Given the description of an element on the screen output the (x, y) to click on. 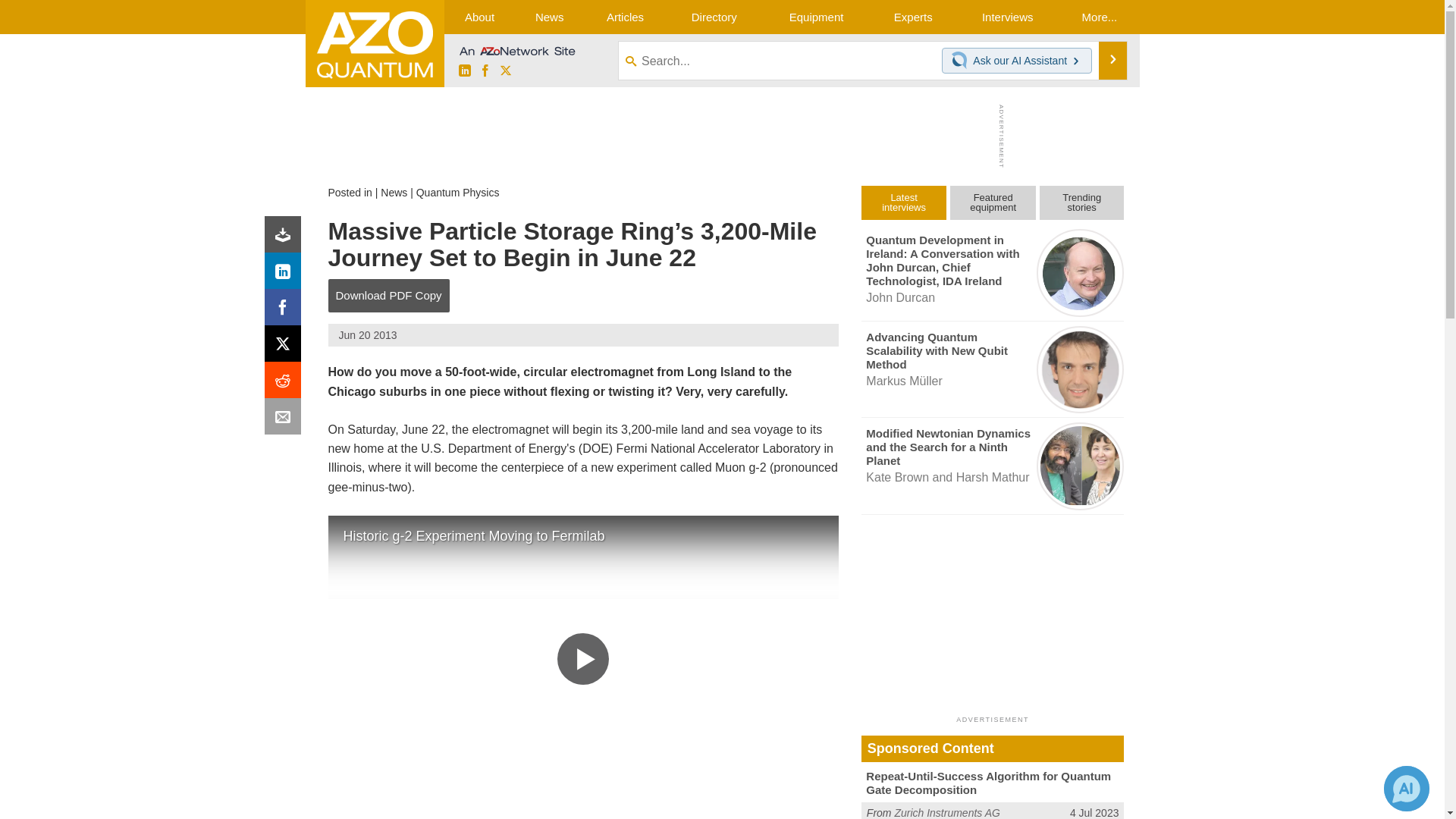
News (549, 17)
Equipment (815, 17)
LinkedIn (464, 71)
More... (1098, 17)
Facebook (485, 71)
News (393, 192)
X (505, 71)
Download PDF copy (285, 238)
Email (285, 420)
Reddit (285, 384)
X (285, 348)
Facebook (285, 311)
Experts (913, 17)
Chat with our AI Assistant Ask our AI Assistant (1017, 60)
